Given the description of an element on the screen output the (x, y) to click on. 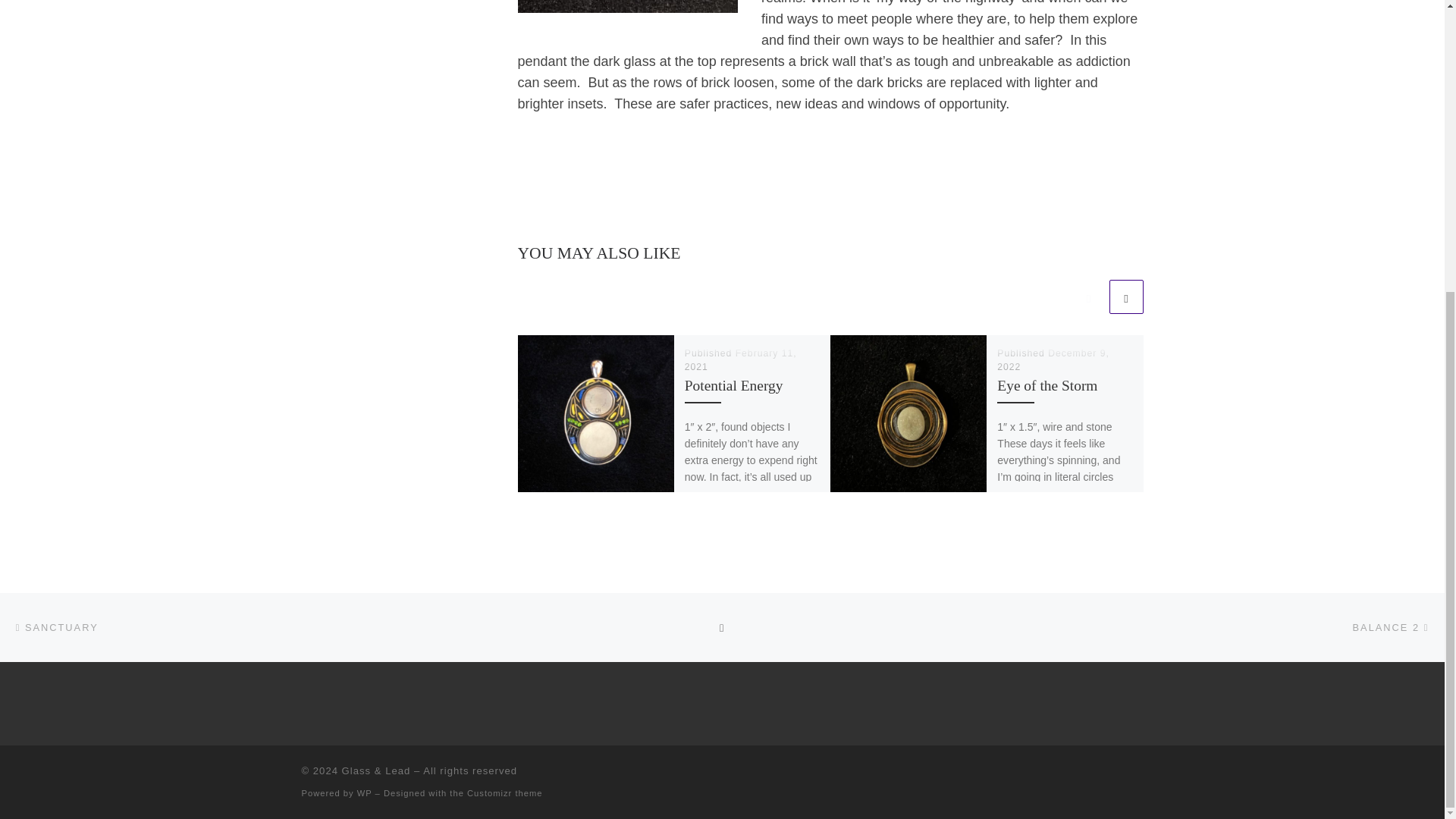
Previous related articles (1088, 296)
February 11, 2021 (740, 360)
Back to post list (722, 627)
Potential Energy (733, 385)
Next related articles (1125, 296)
